Given the description of an element on the screen output the (x, y) to click on. 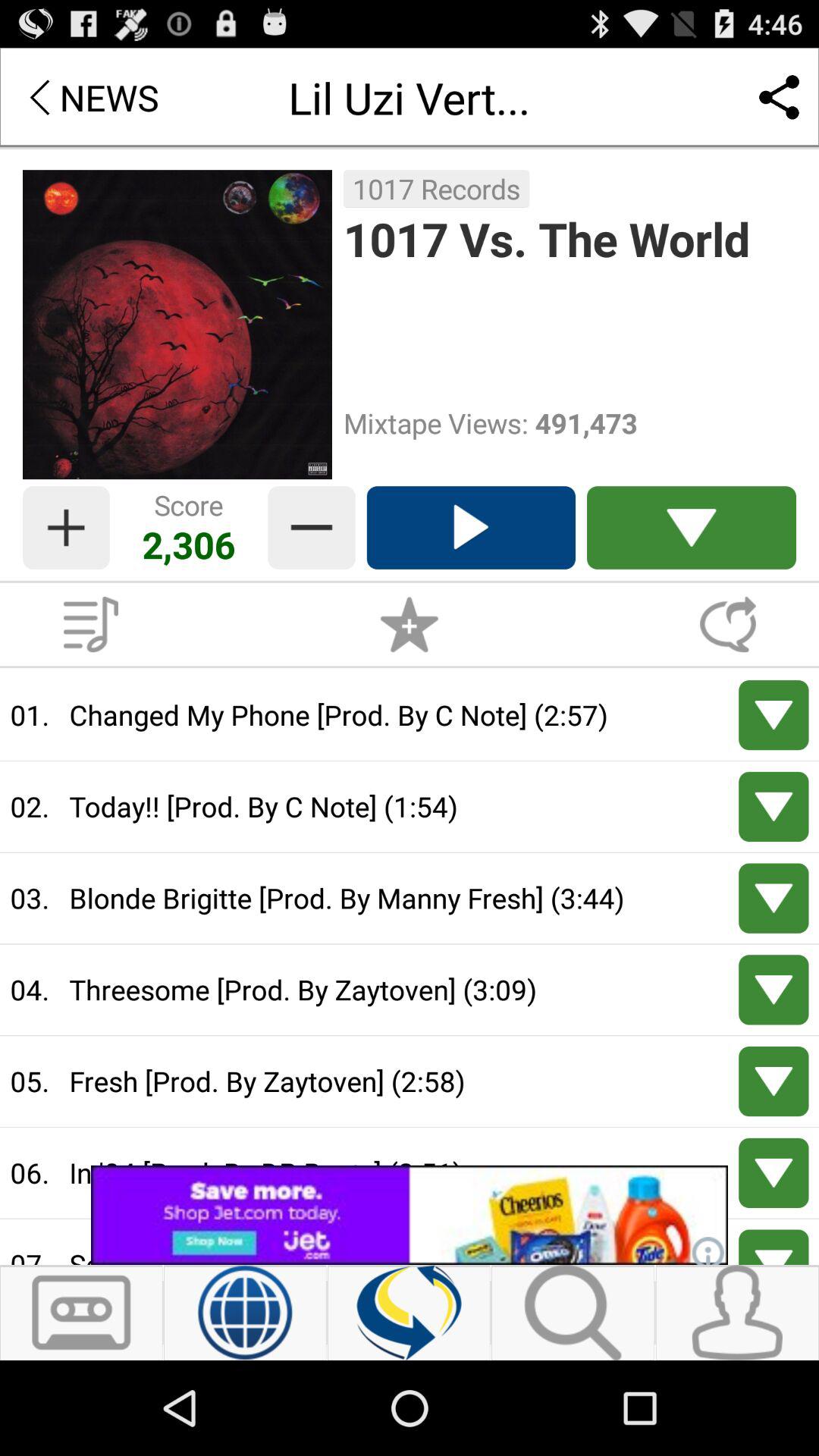
arrow down for next (773, 898)
